Given the description of an element on the screen output the (x, y) to click on. 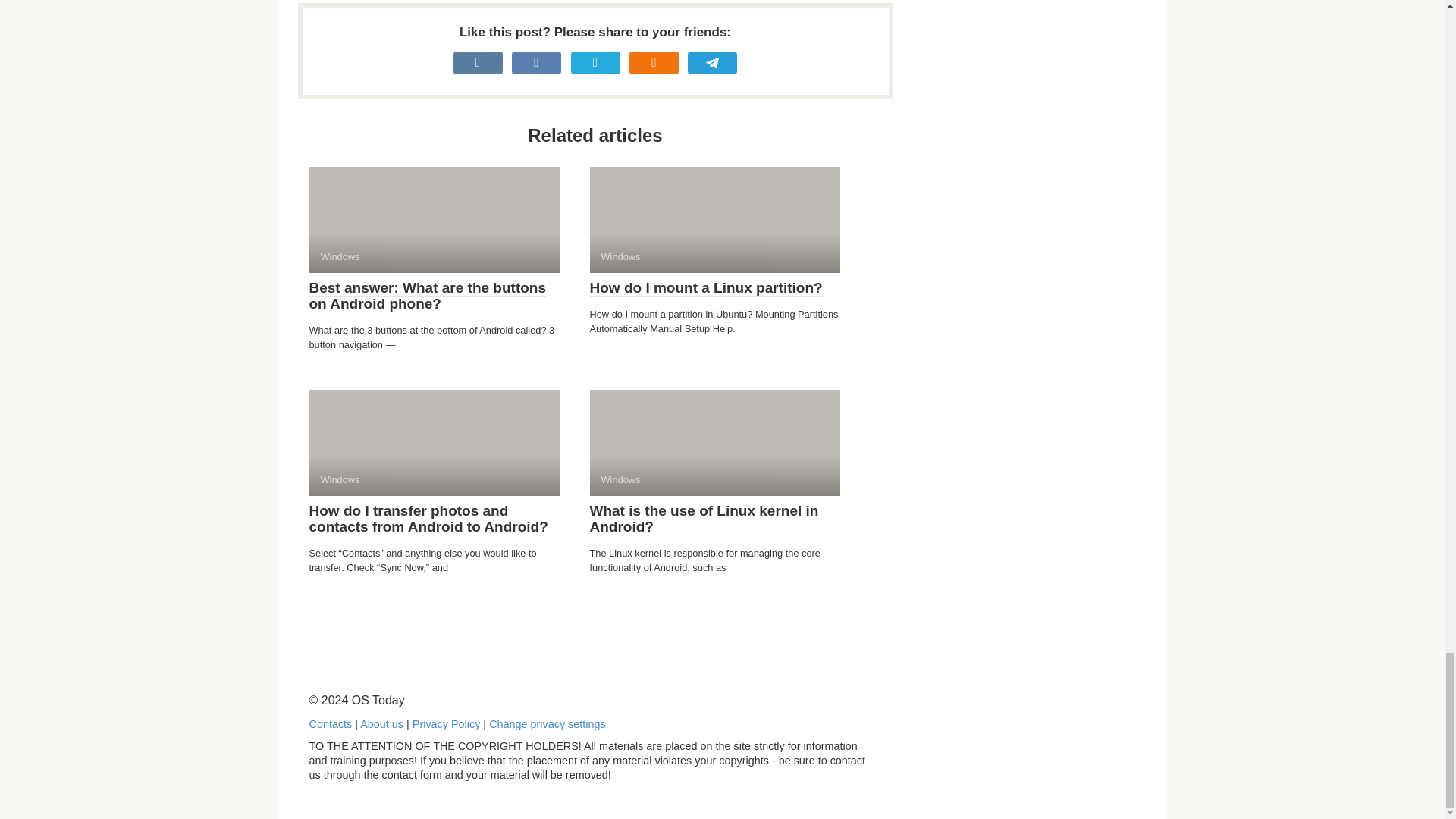
Best answer: What are the buttons on Android phone? (427, 296)
What is the use of Linux kernel in Android? (703, 518)
Windows (714, 219)
DMCA.com Protection Status (1021, 789)
How do I mount a Linux partition? (705, 288)
Windows (433, 219)
Windows (433, 442)
Windows (714, 442)
